Given the description of an element on the screen output the (x, y) to click on. 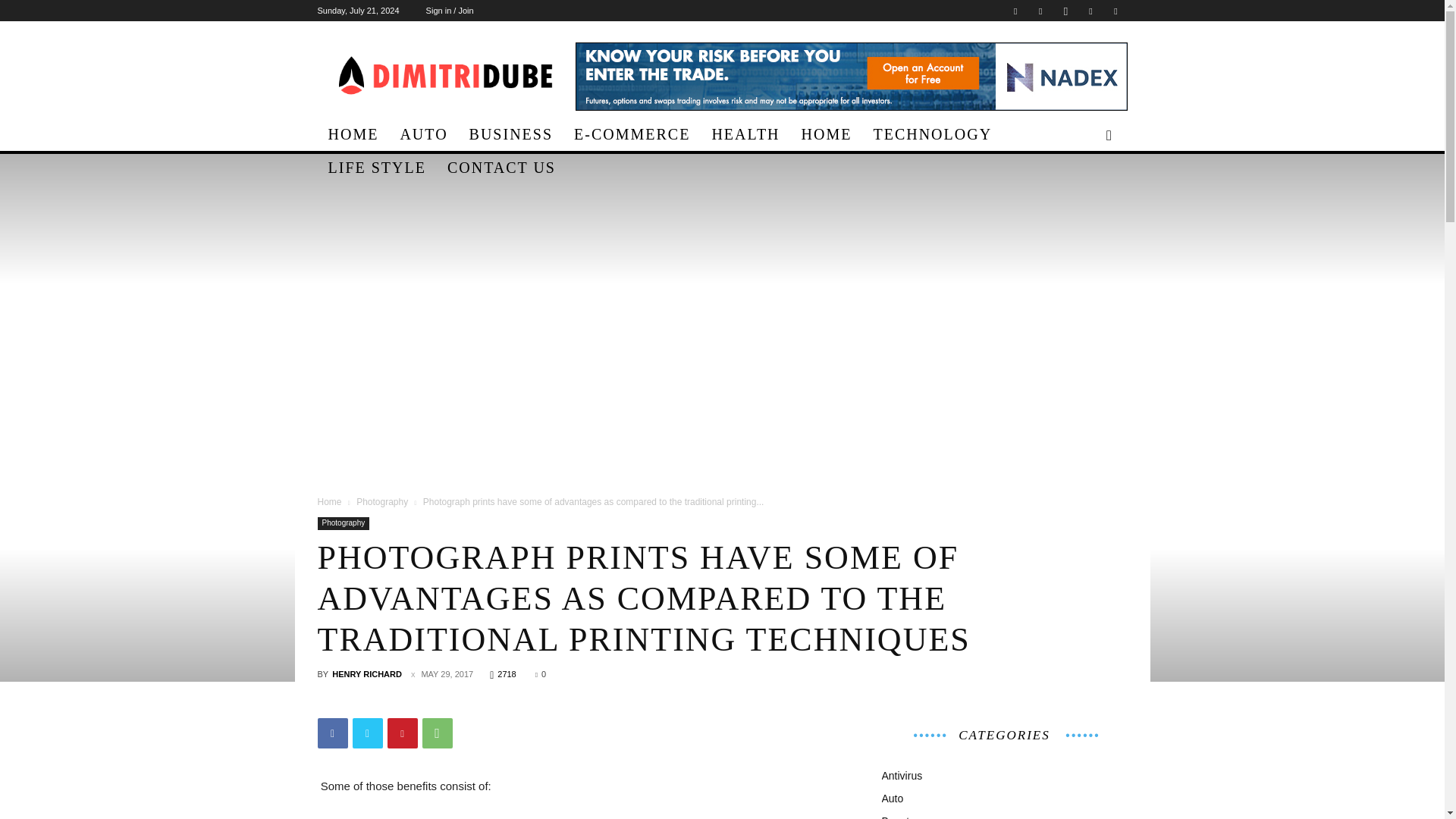
LIFE STYLE (376, 167)
Facebook (332, 733)
Instagram (1065, 10)
WhatsApp (436, 733)
Soundcloud (1114, 10)
HOME (352, 133)
Flickr (1040, 10)
Pinterest (1090, 10)
E-COMMERCE (631, 133)
CONTACT US (501, 167)
Pinterest (401, 733)
Twitter (366, 733)
HEALTH (745, 133)
HOME (826, 133)
Facebook (1015, 10)
